Given the description of an element on the screen output the (x, y) to click on. 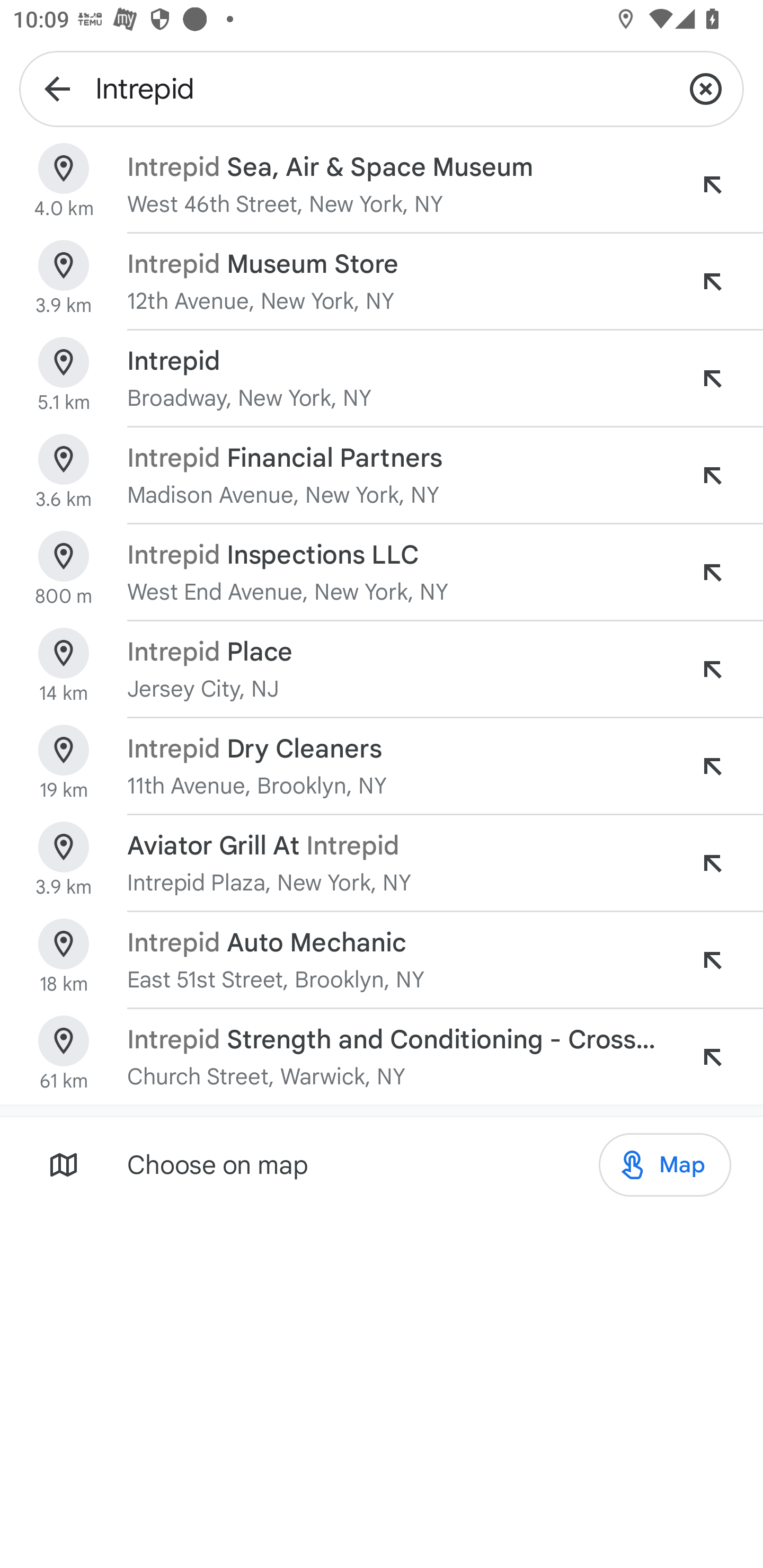
Navigate up (57, 88)
Intrepid (381, 88)
Clear (705, 88)
Choose on map Map Map Map (381, 1164)
Map Map Map (664, 1164)
